Given the description of an element on the screen output the (x, y) to click on. 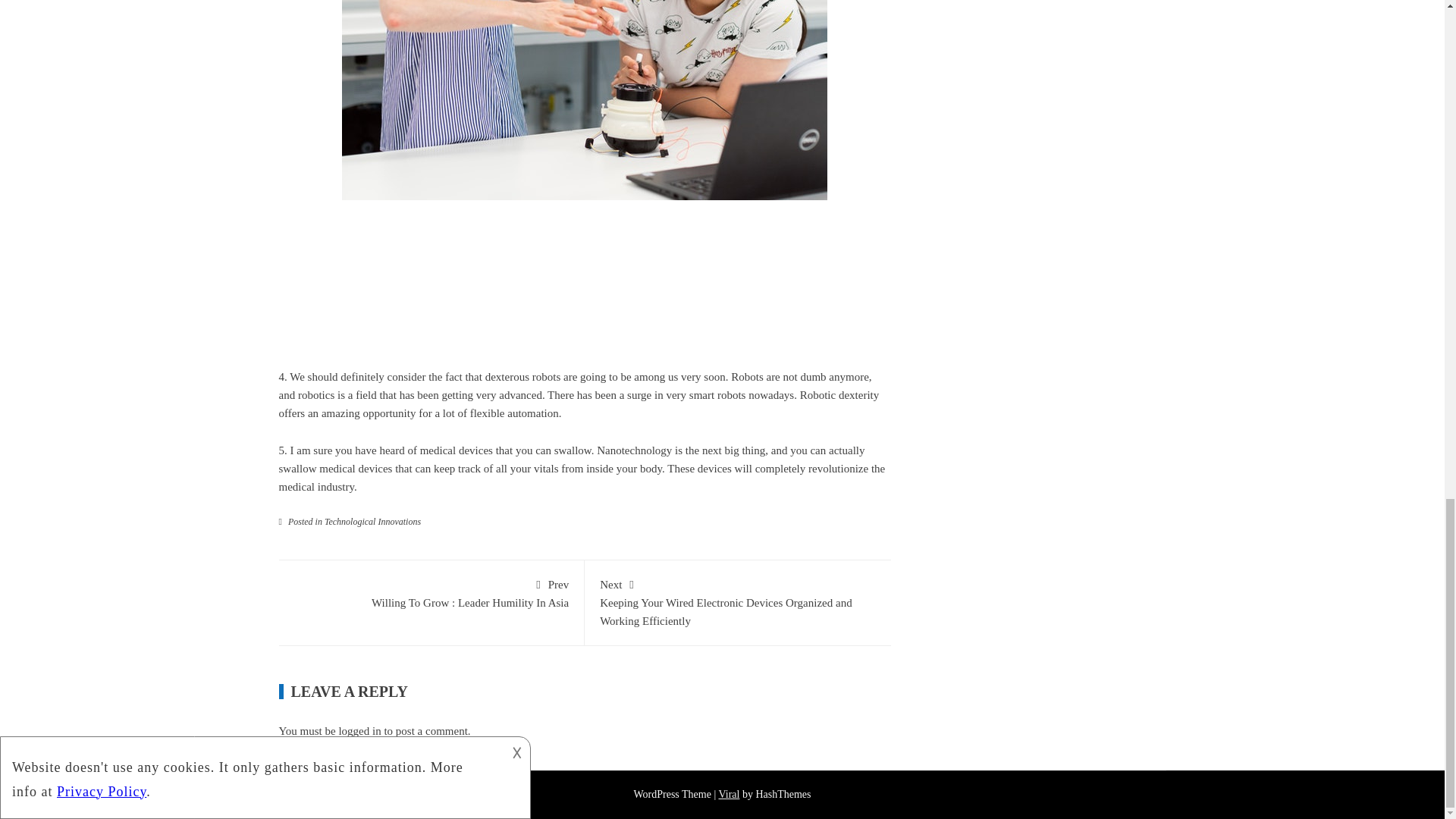
logged in (358, 730)
Download Viral (728, 794)
Viral (431, 592)
amazing opportunity (728, 794)
Technological Innovations (368, 413)
